Given the description of an element on the screen output the (x, y) to click on. 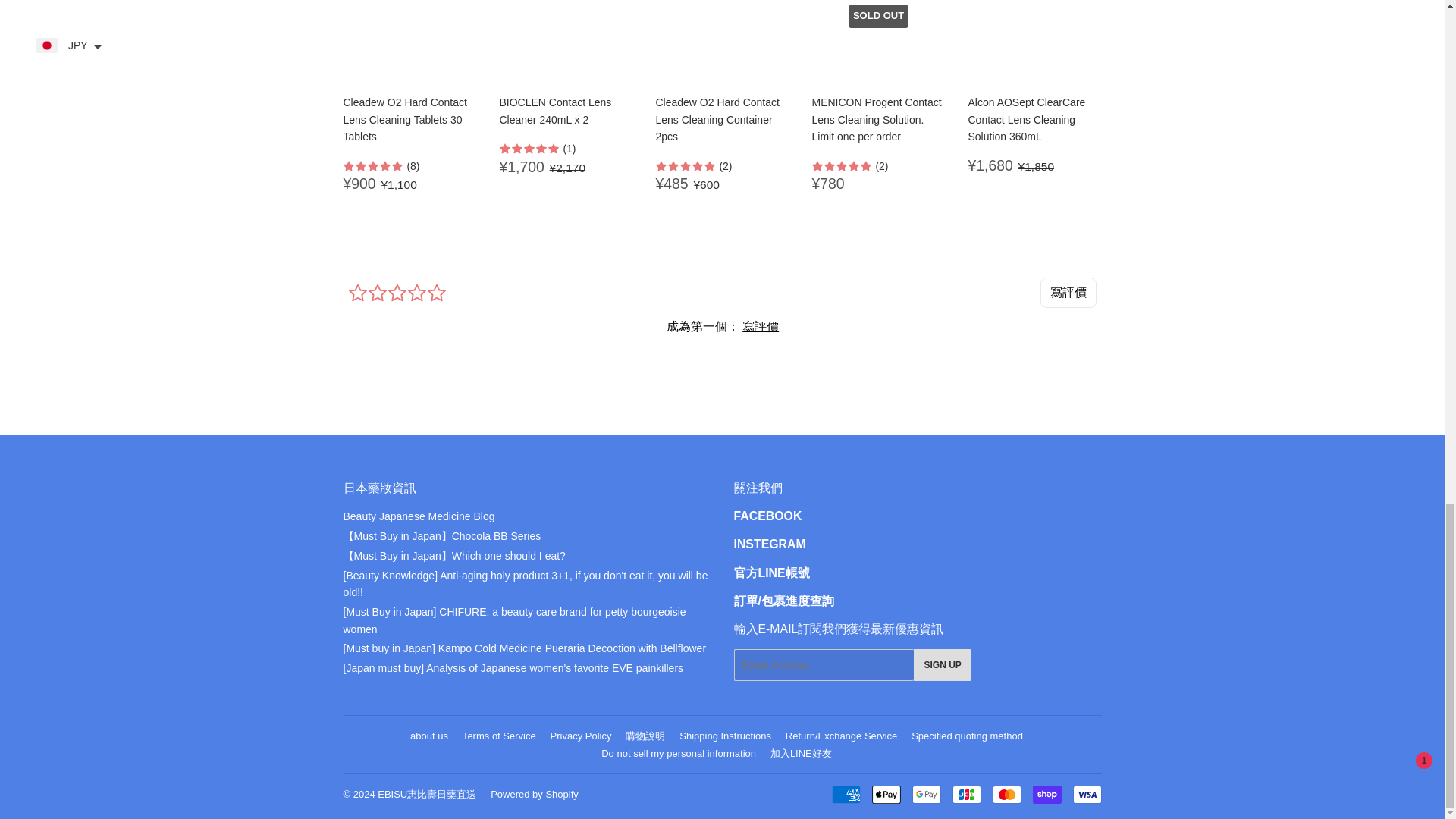
Product reviews widget (721, 325)
